Given the description of an element on the screen output the (x, y) to click on. 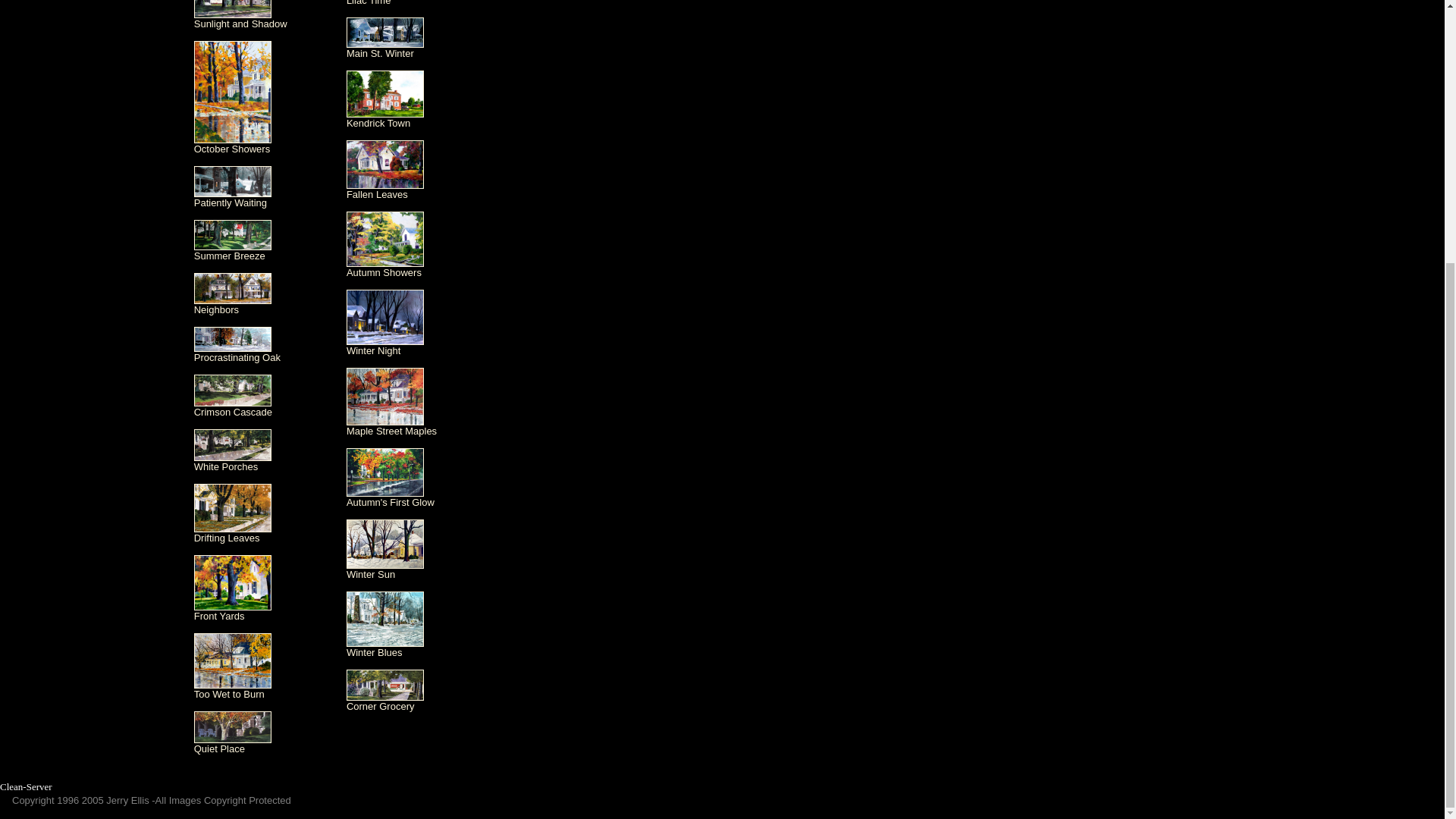
Clean-Server (26, 786)
